Given the description of an element on the screen output the (x, y) to click on. 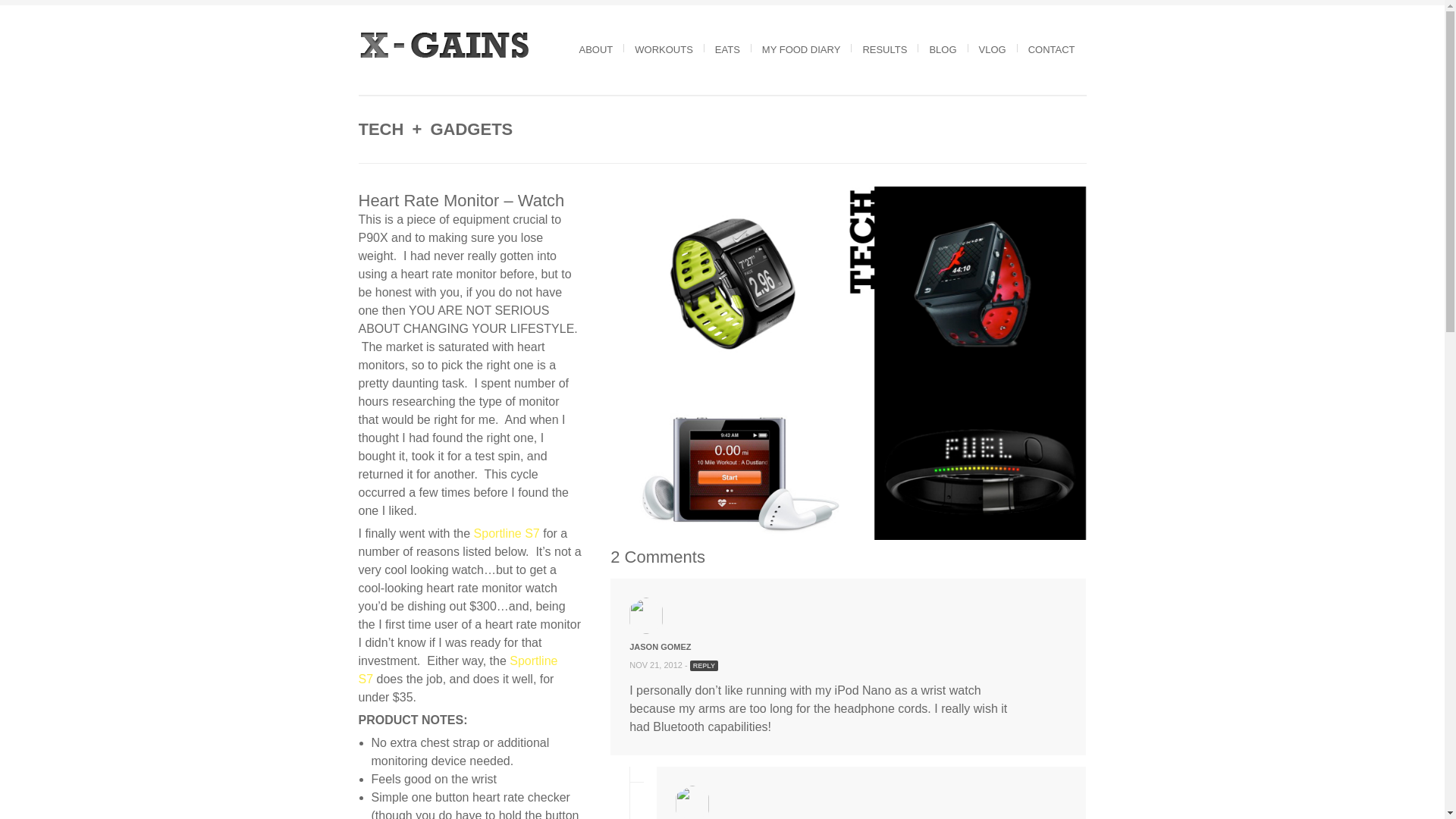
REPLY (703, 665)
CONTACT (1051, 49)
EATS (727, 49)
MY FOOD DIARY (801, 49)
Sportline S7 (507, 533)
JASON GOMEZ (659, 646)
RESULTS (884, 49)
BLOG (942, 49)
Sportline S7 (457, 669)
ABOUT (595, 49)
WORKOUTS (663, 49)
VLOG (992, 49)
